Given the description of an element on the screen output the (x, y) to click on. 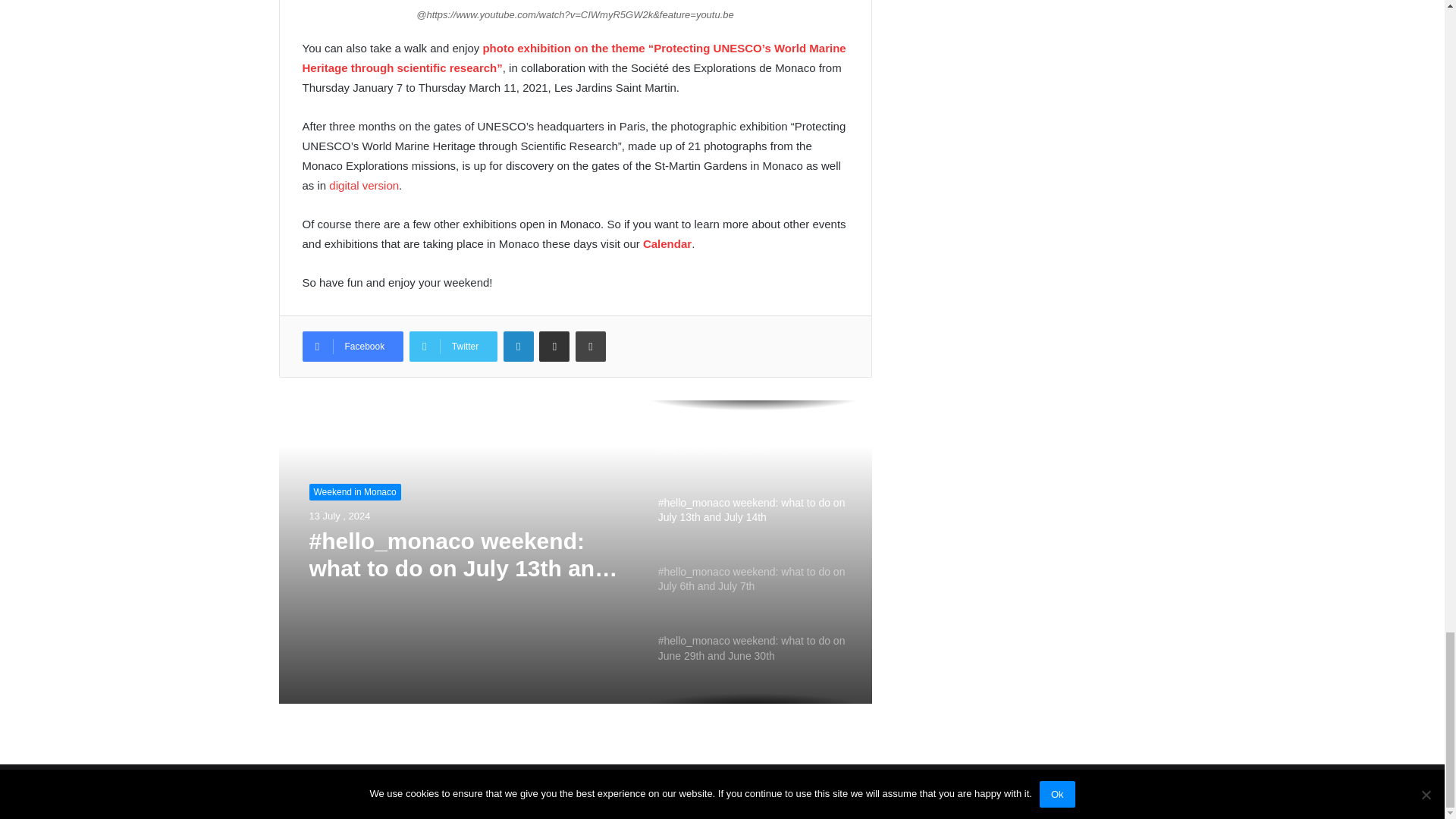
Print (590, 346)
Share via Email (553, 346)
Facebook (352, 346)
Twitter (453, 346)
LinkedIn (518, 346)
